Given the description of an element on the screen output the (x, y) to click on. 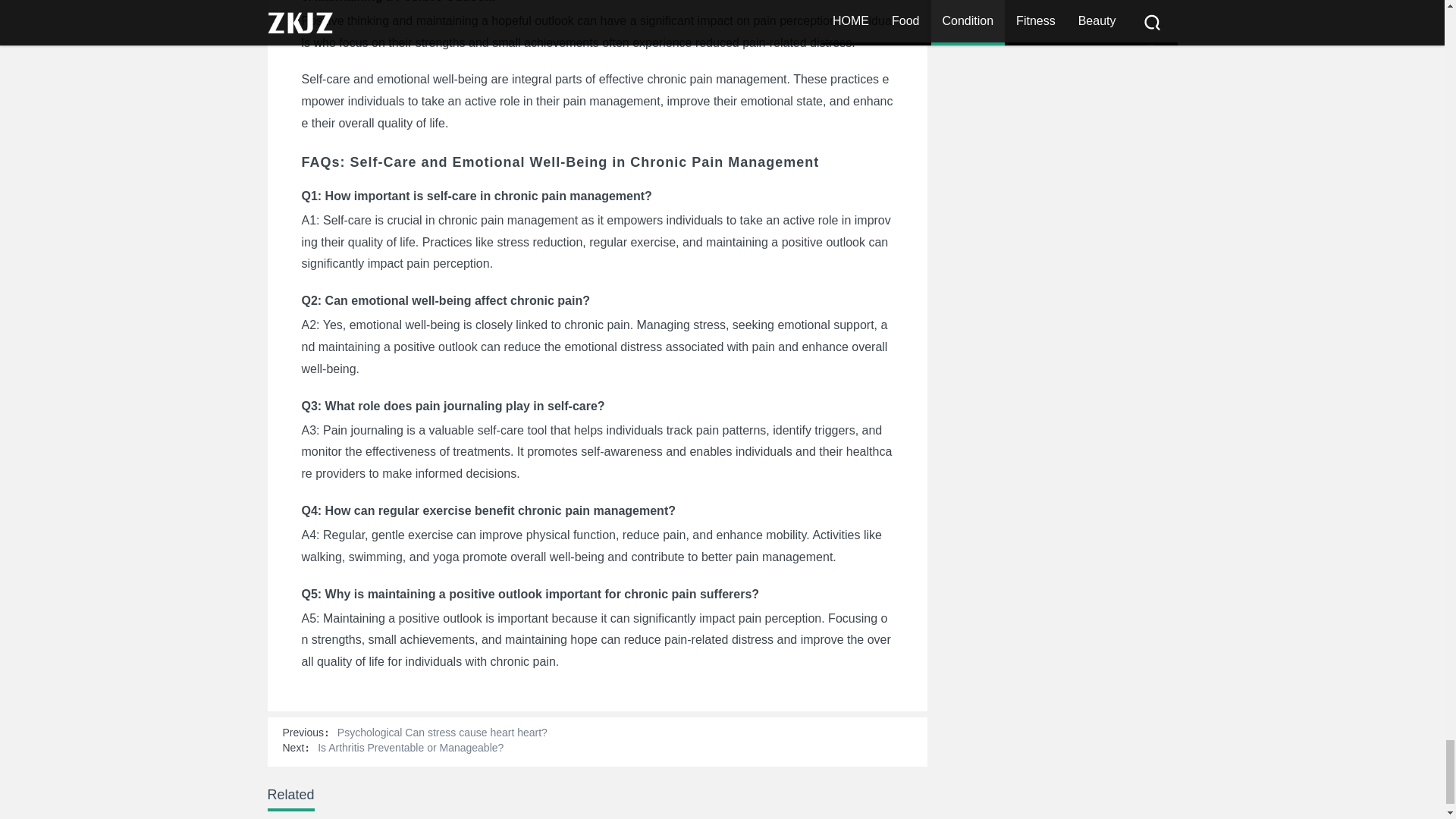
Psychological Can stress cause heart heart? (442, 732)
Is Arthritis Preventable or Manageable? (410, 747)
